Given the description of an element on the screen output the (x, y) to click on. 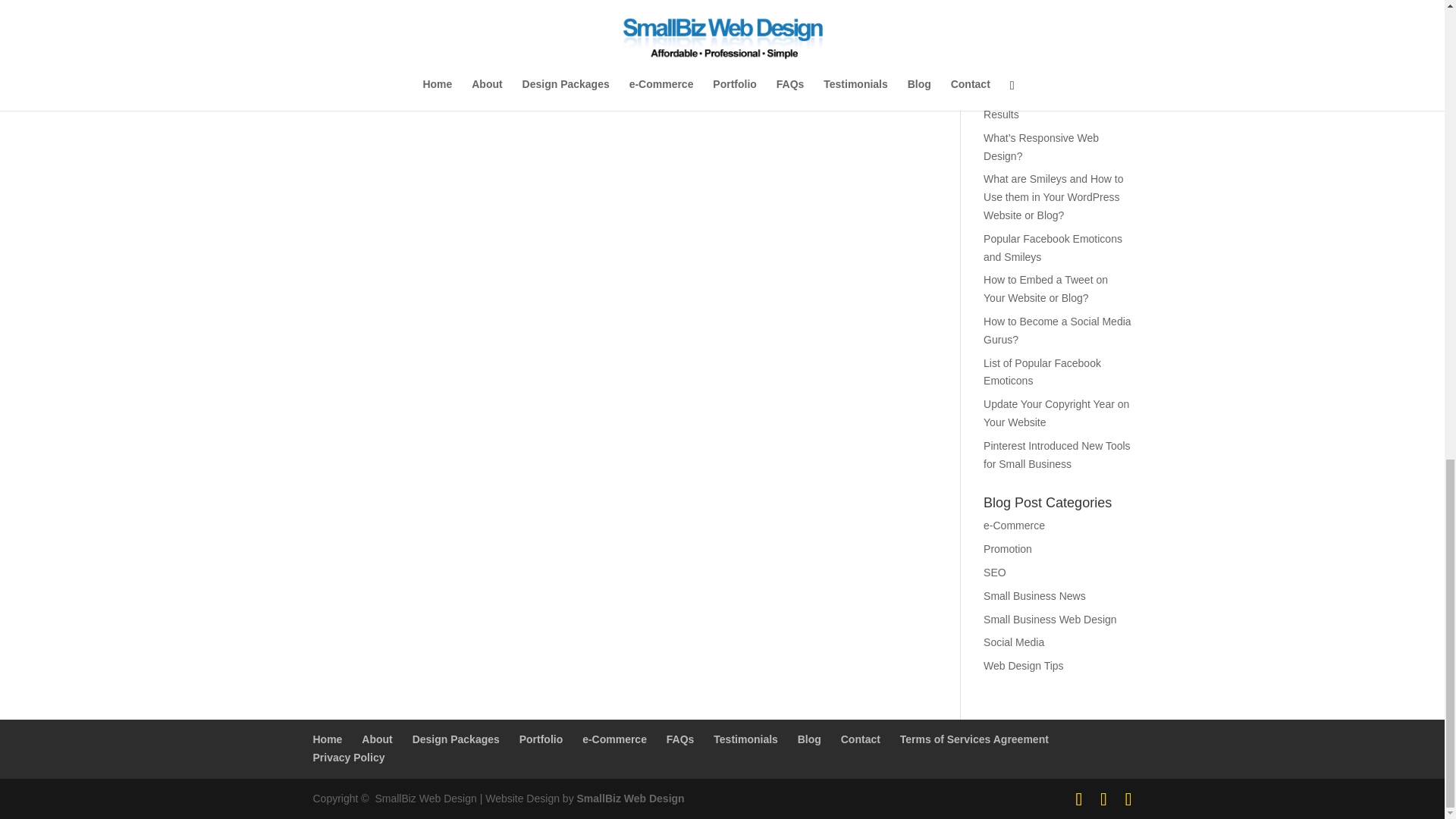
Affordable Web Design for Small Business (630, 798)
Submit Comment (840, 4)
Submit Comment (840, 4)
Integrate Your Online Store with Your Instagram (1048, 9)
Sell Your Products On Your Website (1048, 46)
